Given the description of an element on the screen output the (x, y) to click on. 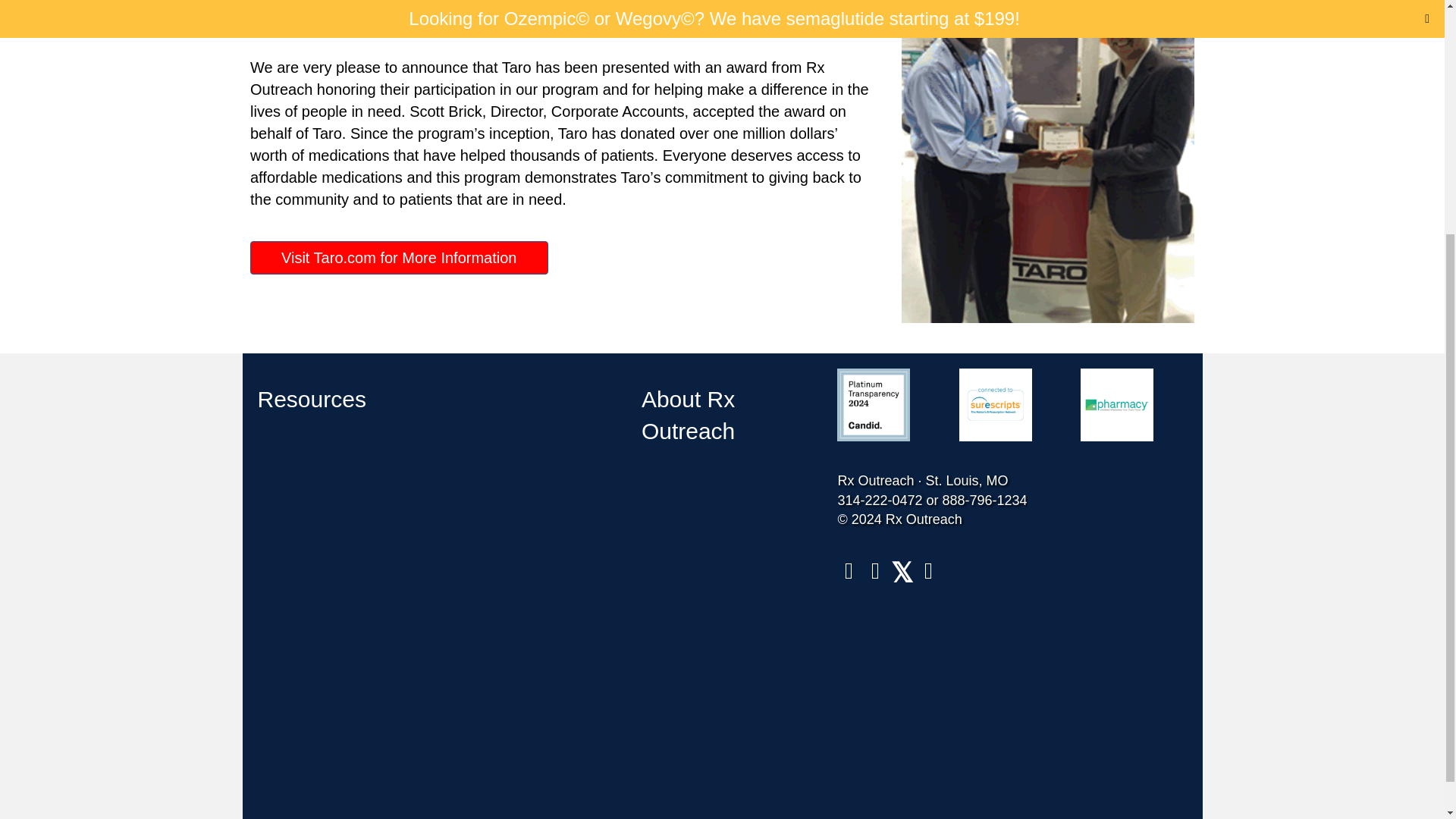
Pharmacy-Edited-2 (1116, 404)
Facebook (848, 570)
Instagram (928, 570)
LinkedIn (874, 570)
Surescripts-Edited (995, 404)
Twitter (900, 570)
candid-seal-platinum-2024 (873, 404)
TaroAwarded (1047, 161)
